Given the description of an element on the screen output the (x, y) to click on. 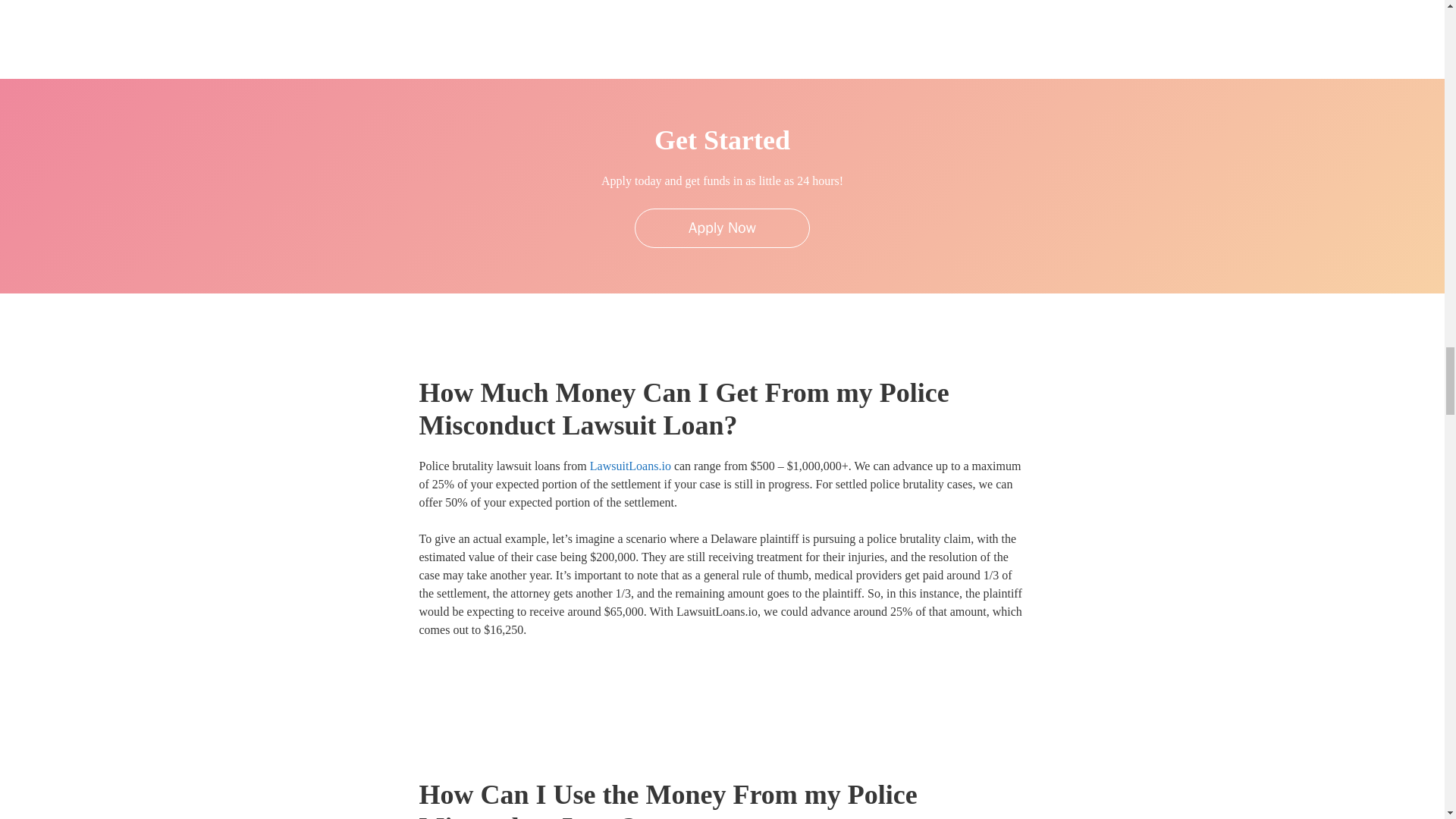
LawsuitLoans.io (630, 465)
Apply Now (721, 228)
